Given the description of an element on the screen output the (x, y) to click on. 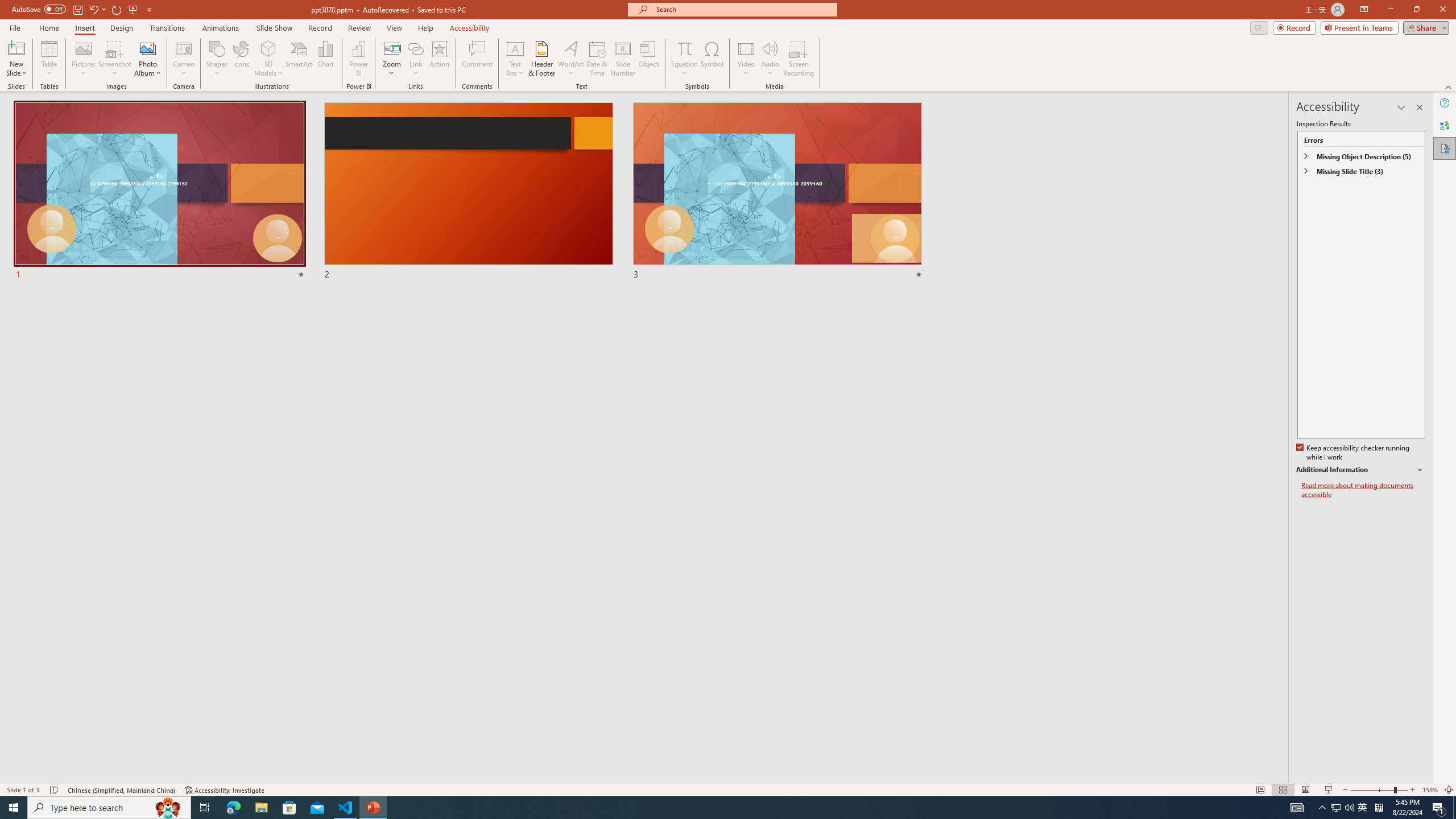
Header & Footer... (541, 58)
Slide Number (622, 58)
Object... (649, 58)
Comment (476, 58)
Zoom 158% (1430, 790)
